Given the description of an element on the screen output the (x, y) to click on. 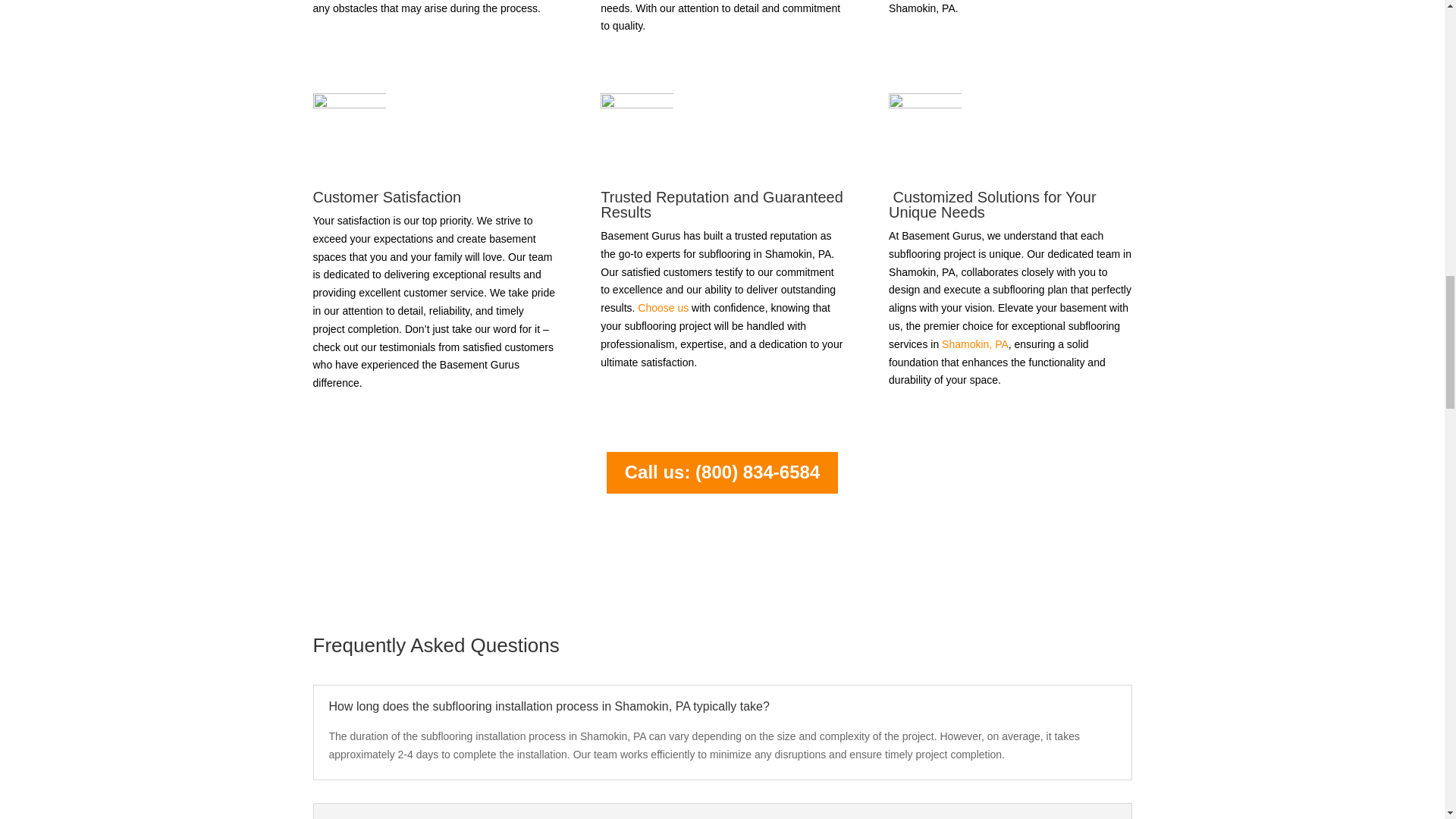
Choose us (662, 307)
5-02 (635, 130)
6-02 (924, 130)
4-02 (349, 130)
